Given the description of an element on the screen output the (x, y) to click on. 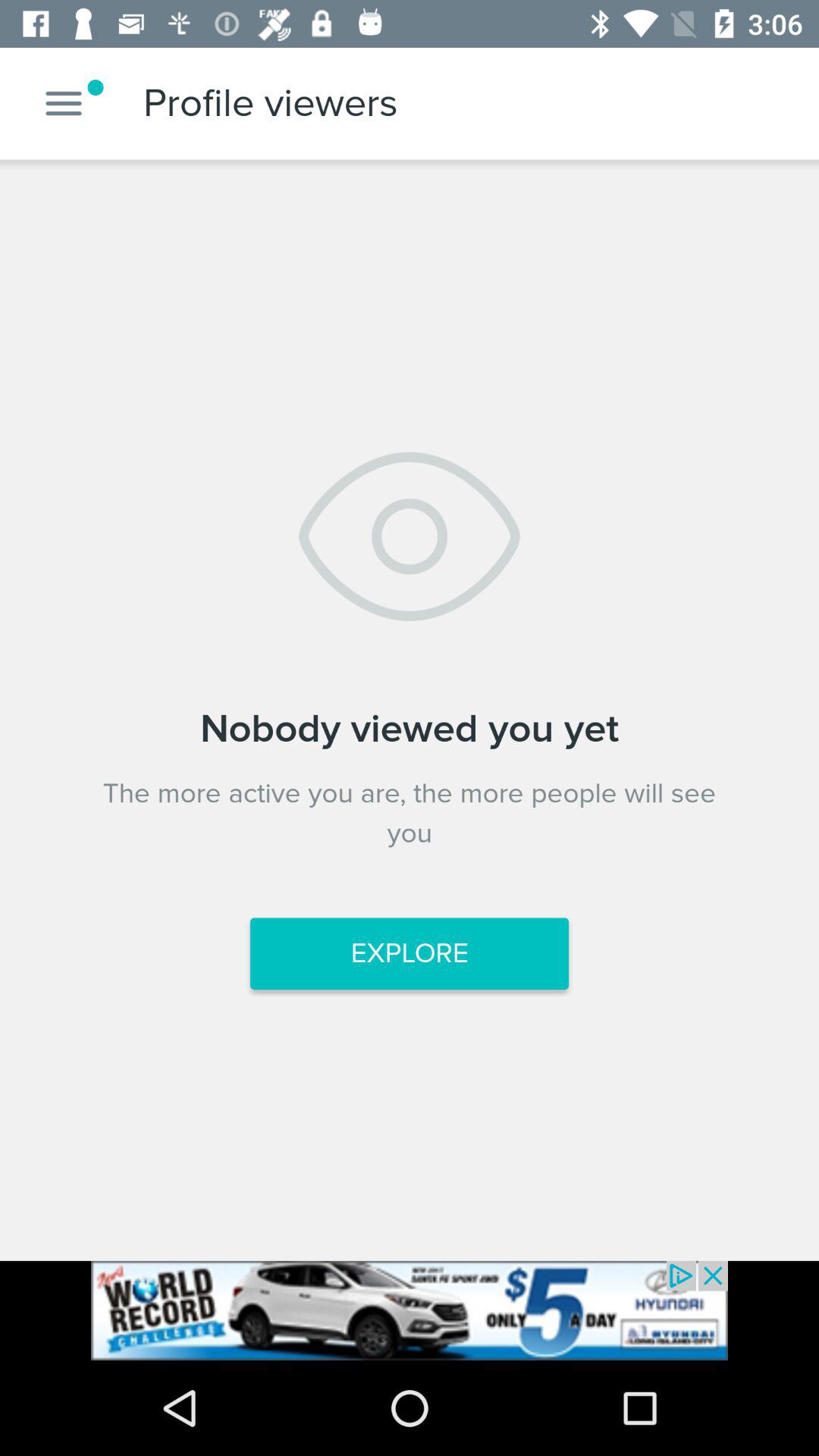
using the homepage (63, 103)
